Given the description of an element on the screen output the (x, y) to click on. 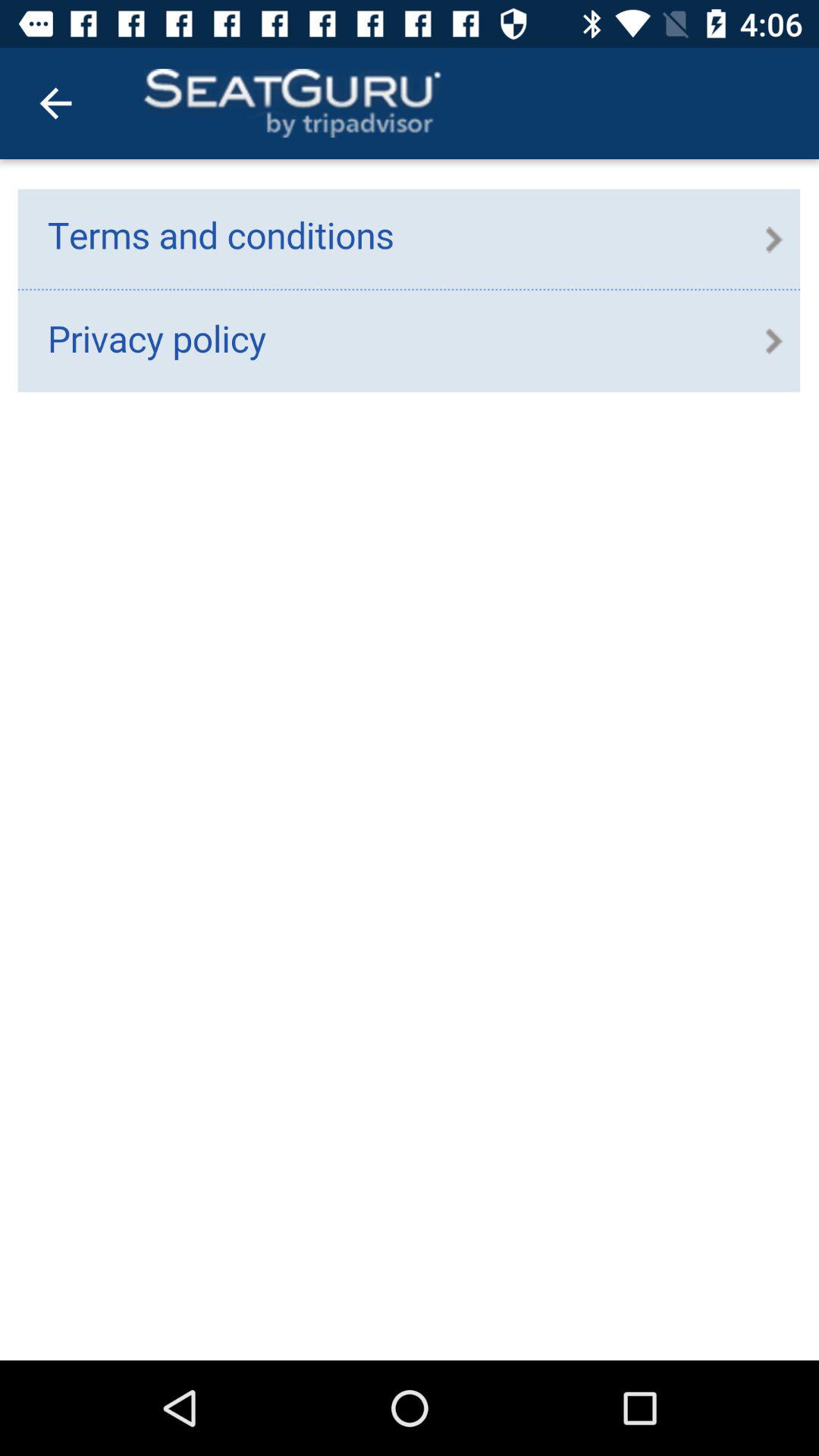
expand terms and conditions (409, 759)
